Given the description of an element on the screen output the (x, y) to click on. 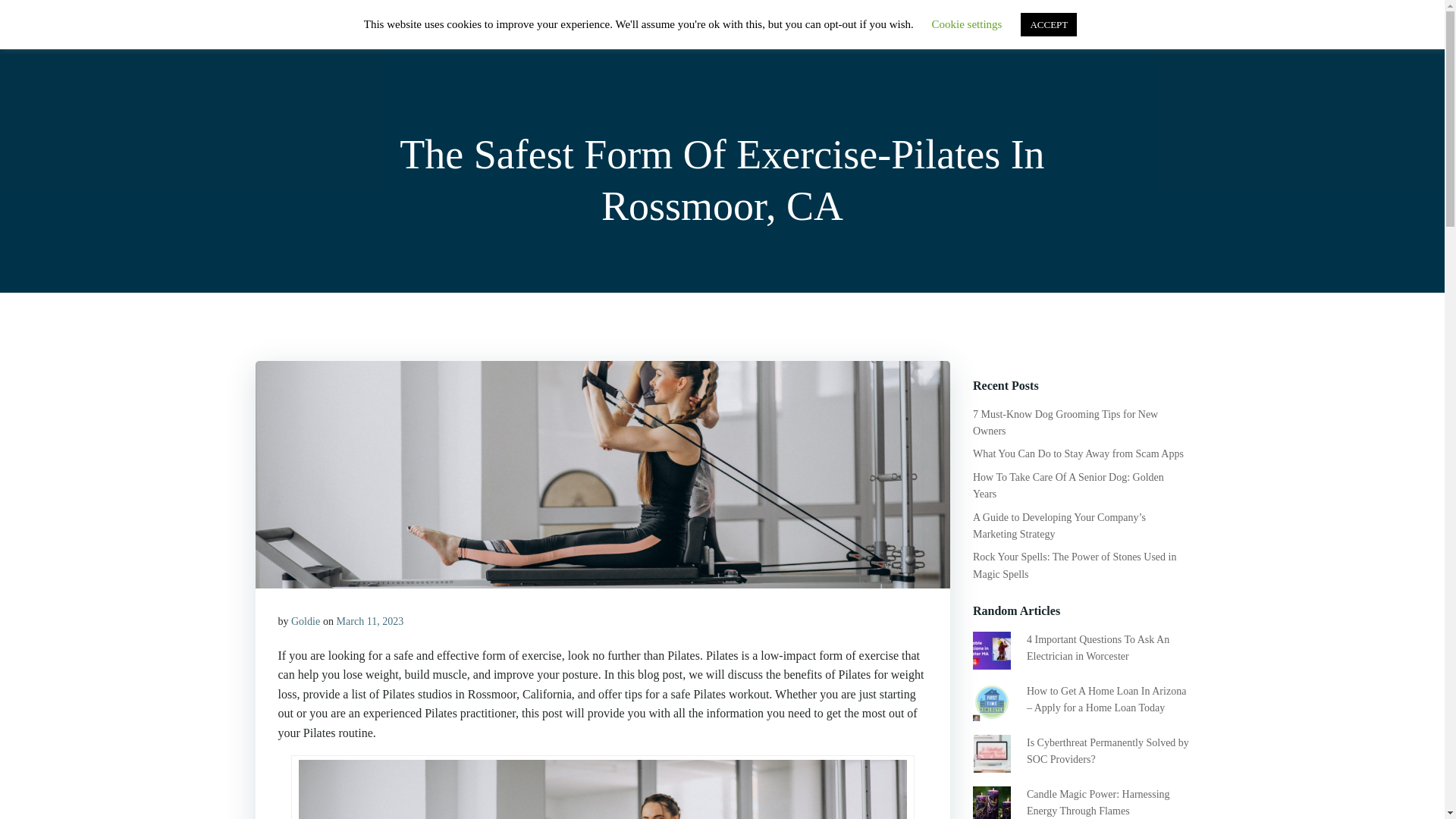
Cookie settings (967, 24)
Rock Your Spells: The Power of Stones Used in Magic Spells (1074, 565)
Is Cyberthreat Permanently Solved by SOC Providers? (1107, 750)
IDT Web (287, 33)
Goldie (305, 621)
HOME (879, 33)
LEGAL (1155, 33)
4 Important Questions To Ask An Electrician in Worcester (1097, 647)
Candle Magic Power: Harnessing Energy Through Flames (1098, 802)
ARTICLES (1014, 33)
March 11, 2023 (370, 621)
LOGIN (1088, 33)
What You Can Do to Stay Away from Scam Apps (1077, 453)
7 Must-Know Dog Grooming Tips for New Owners (1064, 422)
How To Take Care Of A Senior Dog: Golden Years (1067, 485)
